Given the description of an element on the screen output the (x, y) to click on. 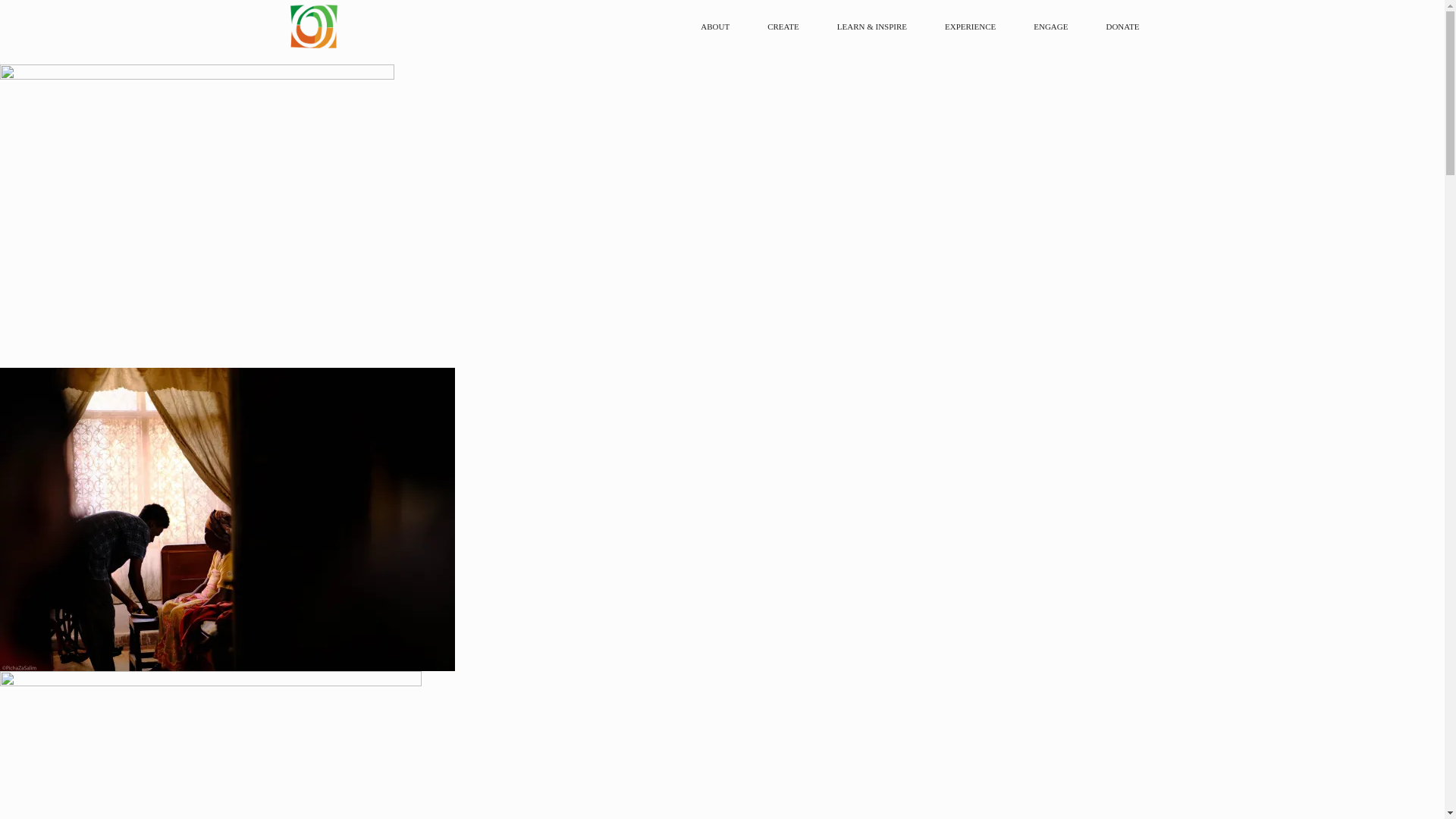
EXPERIENCE (973, 26)
DONATE (1122, 26)
ABOUT (718, 26)
NAFASI ART SPACE (425, 26)
CREATE (787, 26)
ENGAGE (1053, 26)
